Given the description of an element on the screen output the (x, y) to click on. 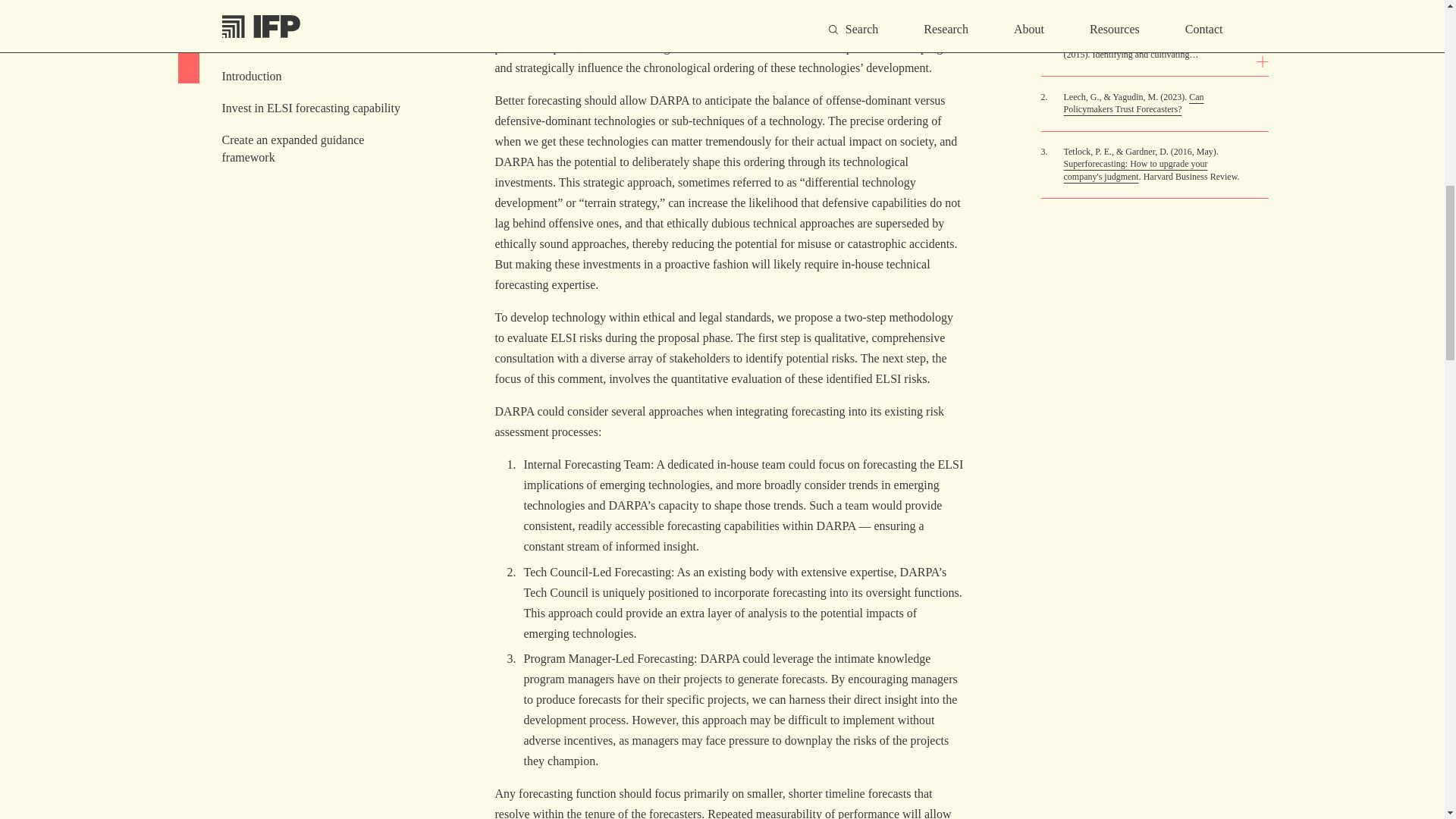
Can Policymakers Trust Forecasters? (1133, 102)
